Given the description of an element on the screen output the (x, y) to click on. 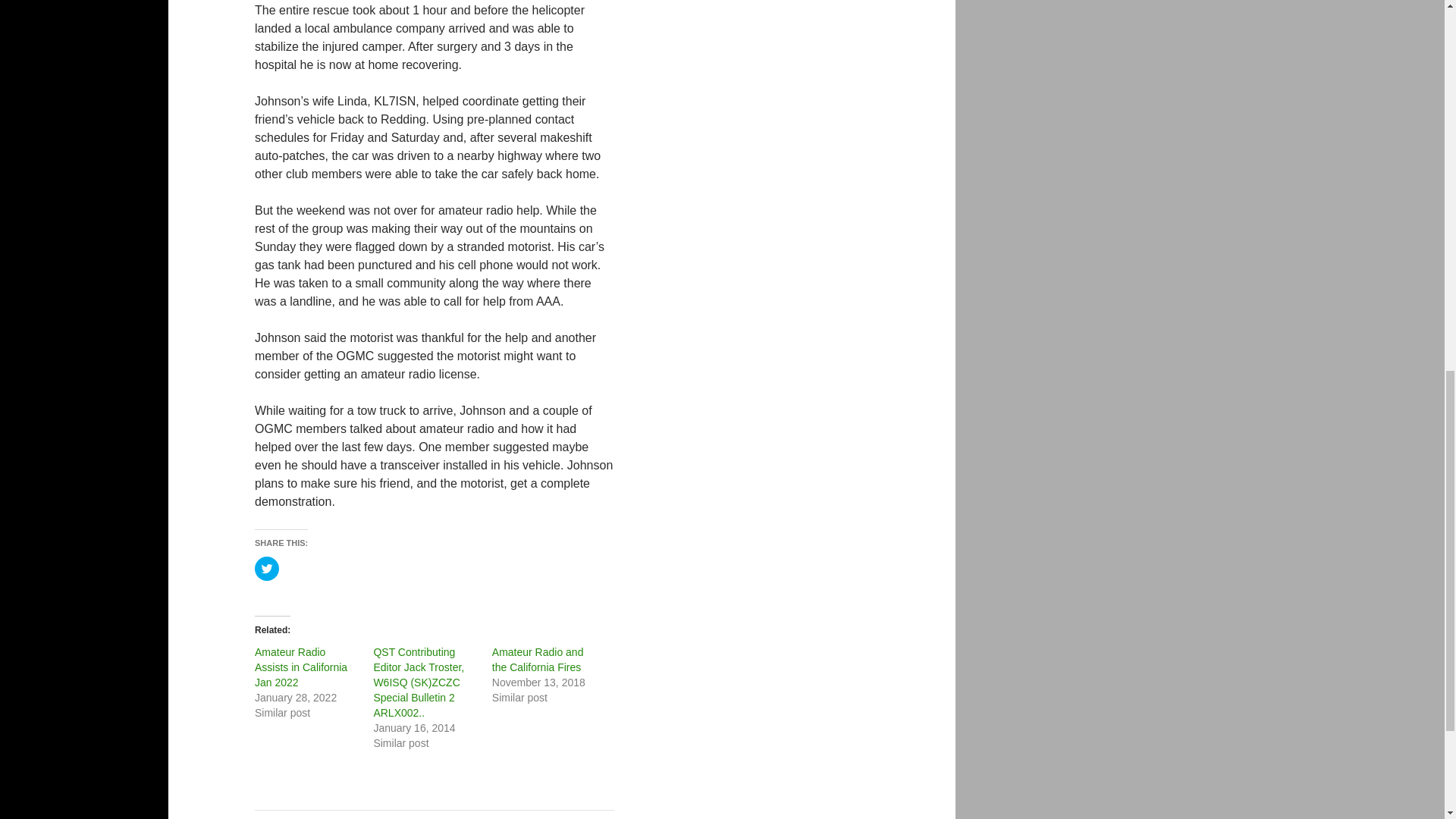
Click to share on Twitter (266, 568)
Amateur Radio and the California Fires (537, 659)
Amateur Radio Assists in California Jan 2022 (300, 667)
Amateur Radio and the California Fires (537, 659)
Amateur Radio Assists in California Jan 2022 (300, 667)
